Given the description of an element on the screen output the (x, y) to click on. 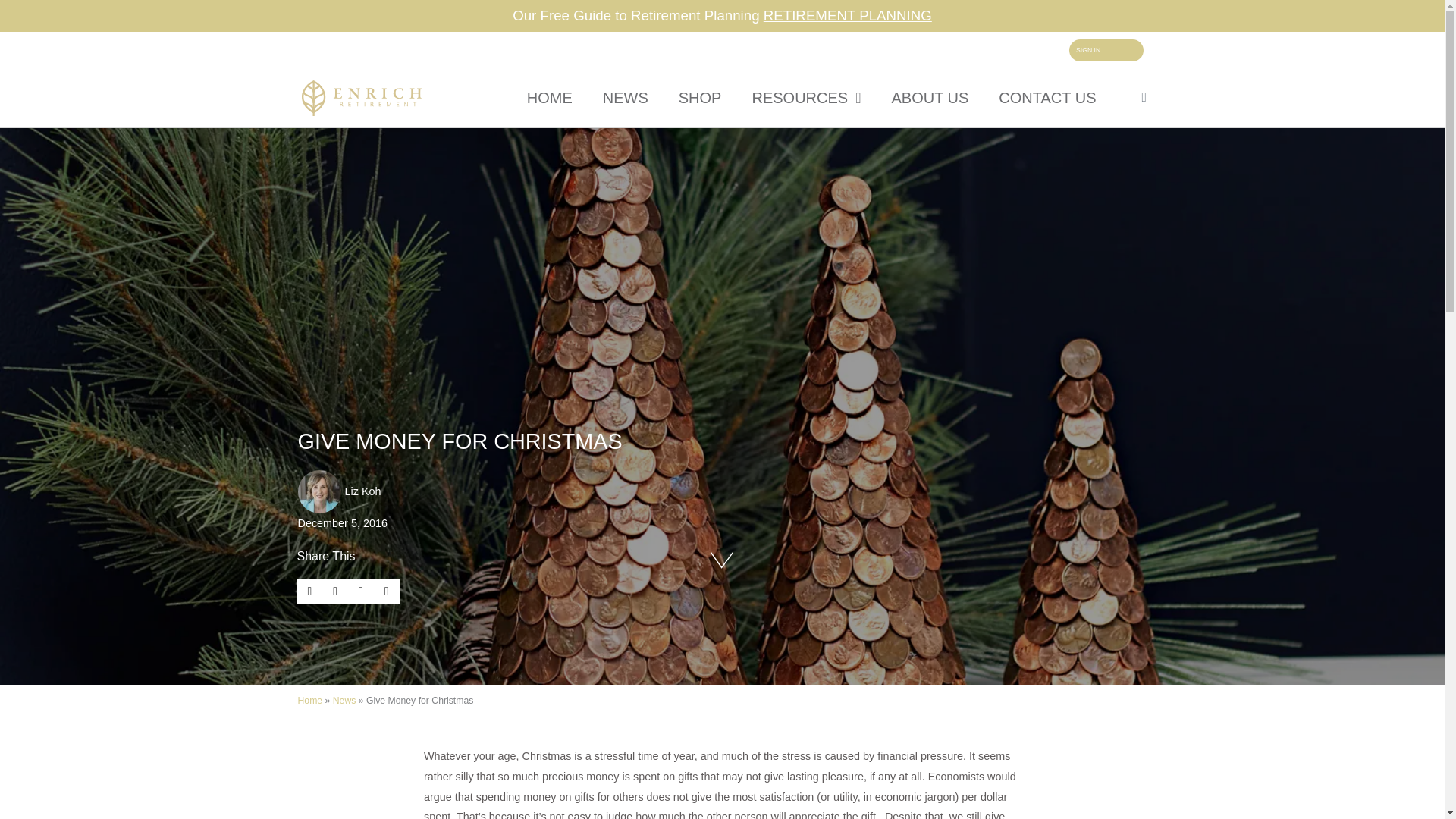
Home (309, 700)
CART (1144, 97)
HOME (550, 97)
ABOUT US (930, 97)
RETIREMENT PLANNING (846, 4)
RESOURCES (806, 97)
CONTACT US (1047, 97)
Liz Koh (338, 491)
SHOP (699, 97)
SIGN IN (1105, 49)
